Given the description of an element on the screen output the (x, y) to click on. 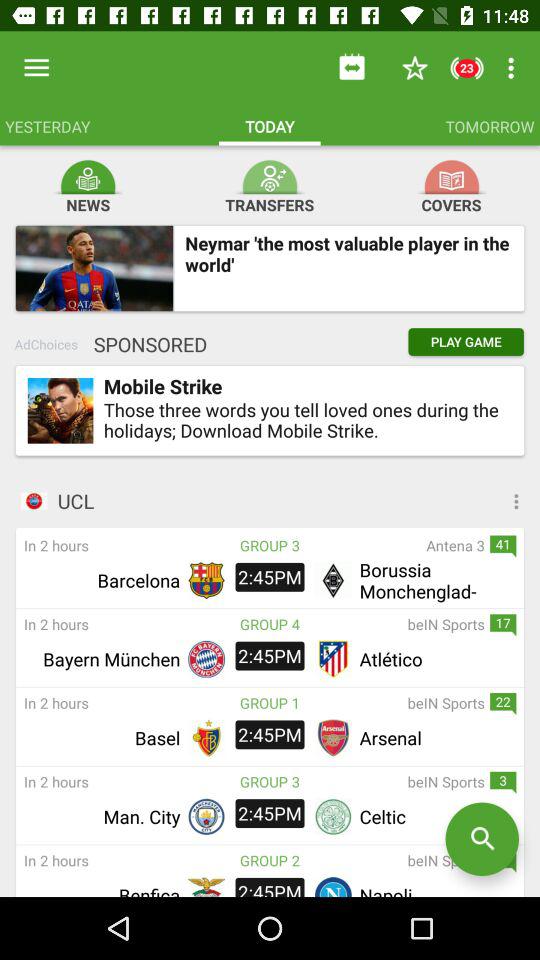
turn off the those three words icon (302, 420)
